Given the description of an element on the screen output the (x, y) to click on. 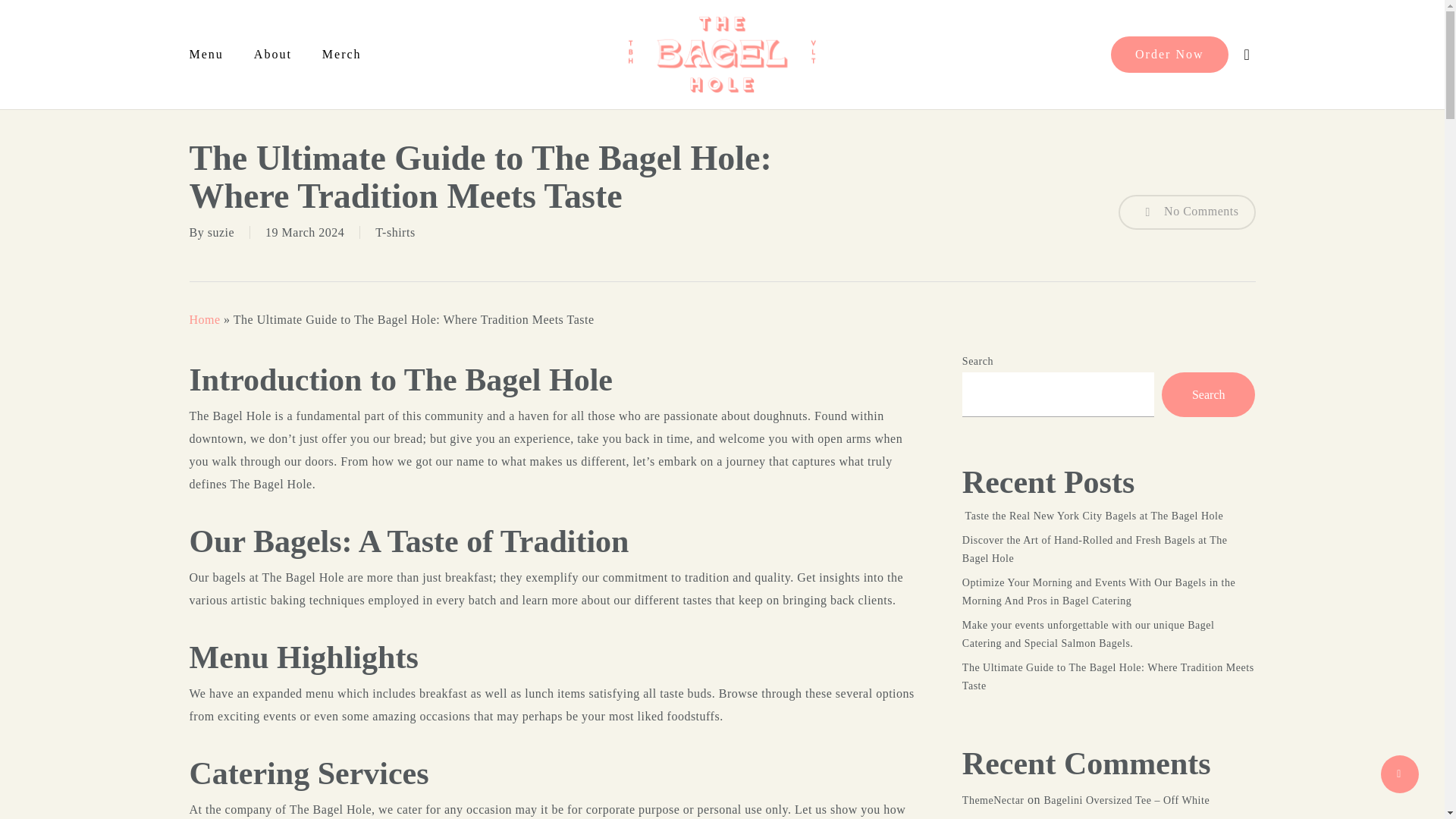
Posts by suzie (221, 232)
Menu (213, 54)
suzie (221, 232)
T-shirts (394, 232)
Home (205, 318)
Merch (342, 54)
 Taste the Real New York City Bagels at The Bagel Hole (1108, 515)
Order Now (1168, 54)
